Given the description of an element on the screen output the (x, y) to click on. 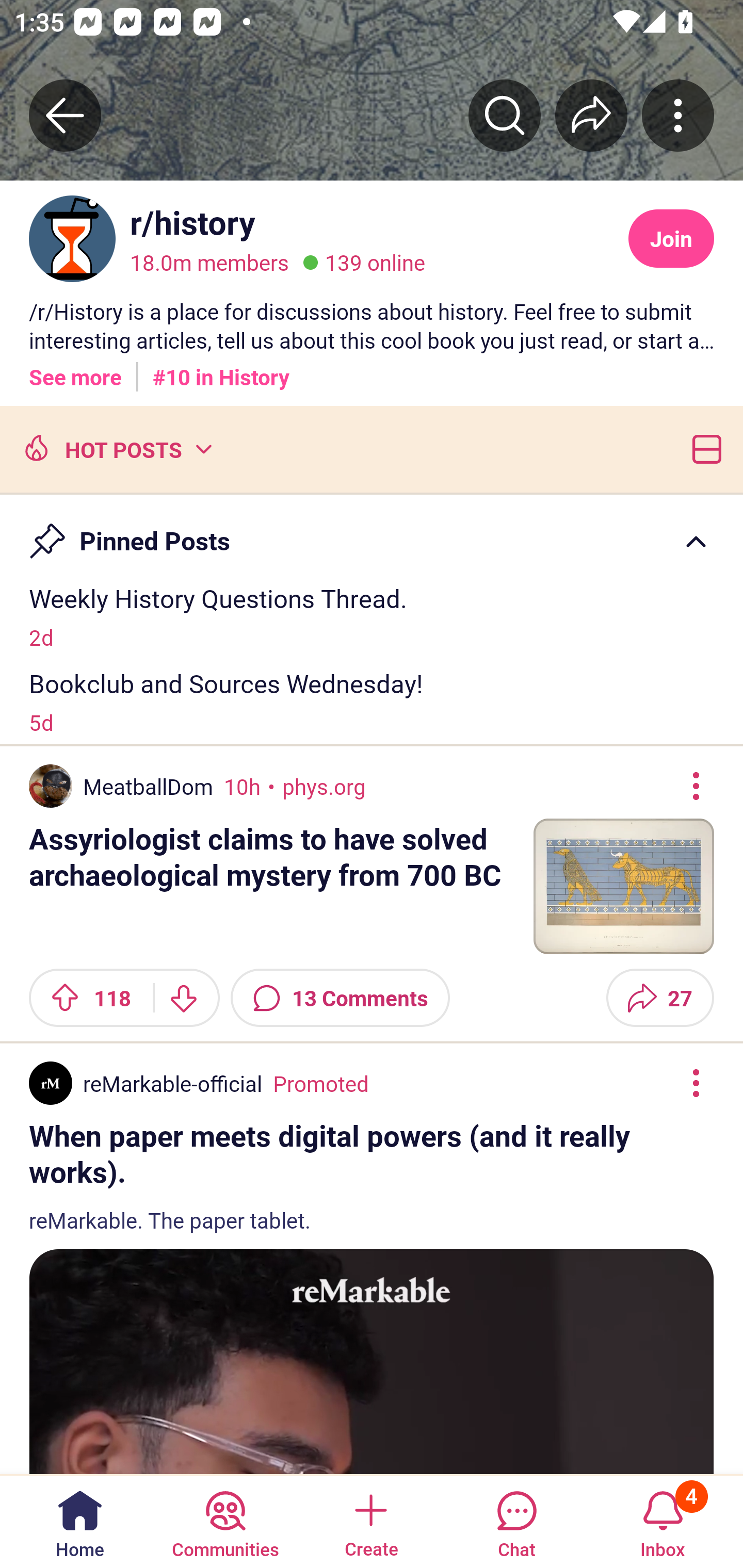
Back (64, 115)
Search r/﻿history (504, 115)
Share r/﻿history (591, 115)
More community actions (677, 115)
Hot posts HOT POSTS (116, 448)
Card (703, 448)
Pin Pinned Posts Caret (371, 531)
Weekly History Questions Thread. 2d (371, 615)
Bookclub and Sources Wednesday! 5d (371, 701)
Home (80, 1520)
Communities (225, 1520)
Create a post Create (370, 1520)
Chat (516, 1520)
Inbox, has 4 notifications 4 Inbox (662, 1520)
